Given the description of an element on the screen output the (x, y) to click on. 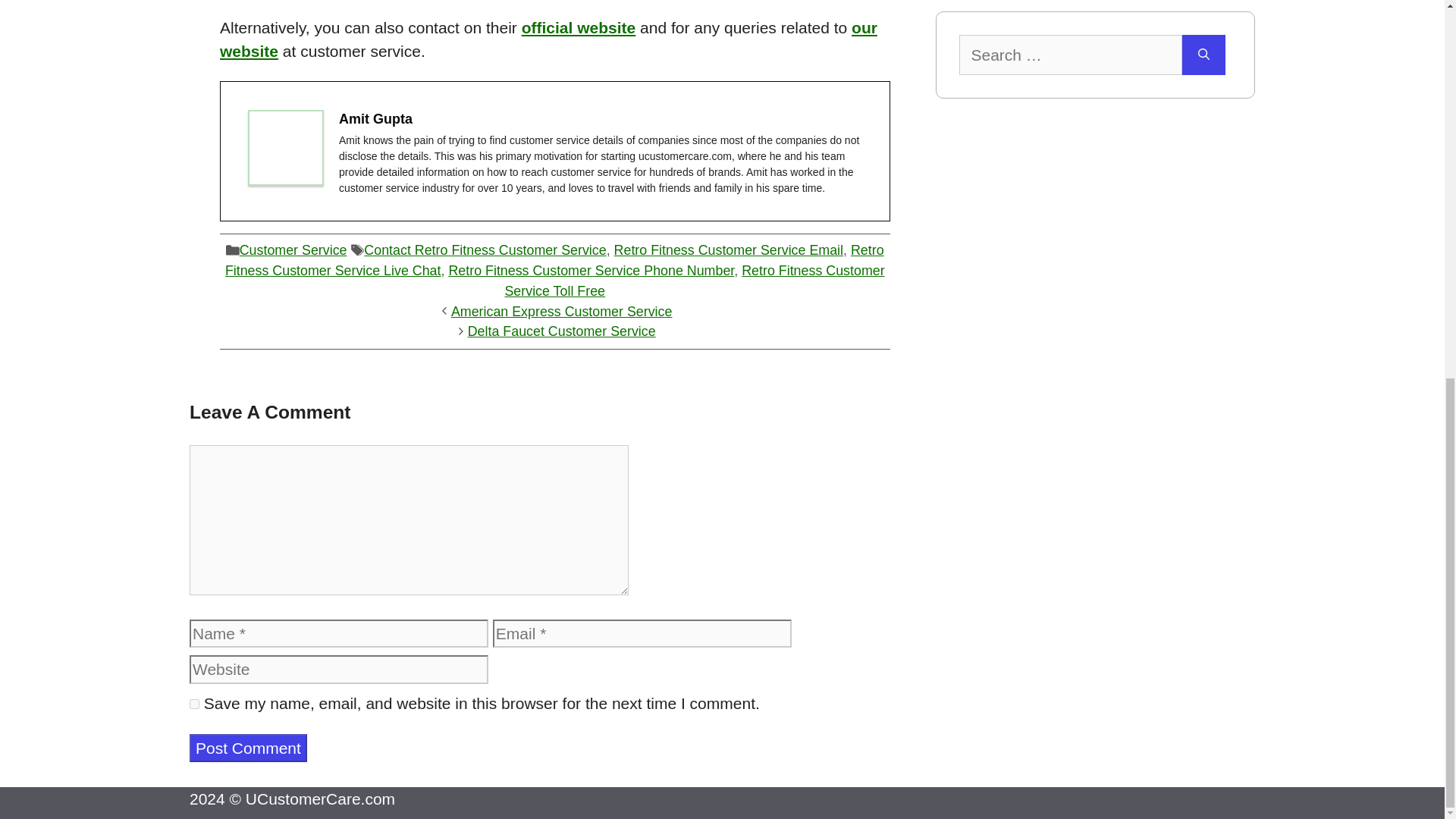
Retro Fitness Customer Service Phone Number (590, 270)
American Express Customer Service (561, 311)
Previous (561, 311)
official website (578, 27)
Retro Fitness Customer Service Toll Free (693, 280)
Post Comment (248, 747)
Post Comment (248, 747)
yes (194, 704)
Next (561, 331)
Retro Fitness Customer Service Live Chat (554, 260)
